Given the description of an element on the screen output the (x, y) to click on. 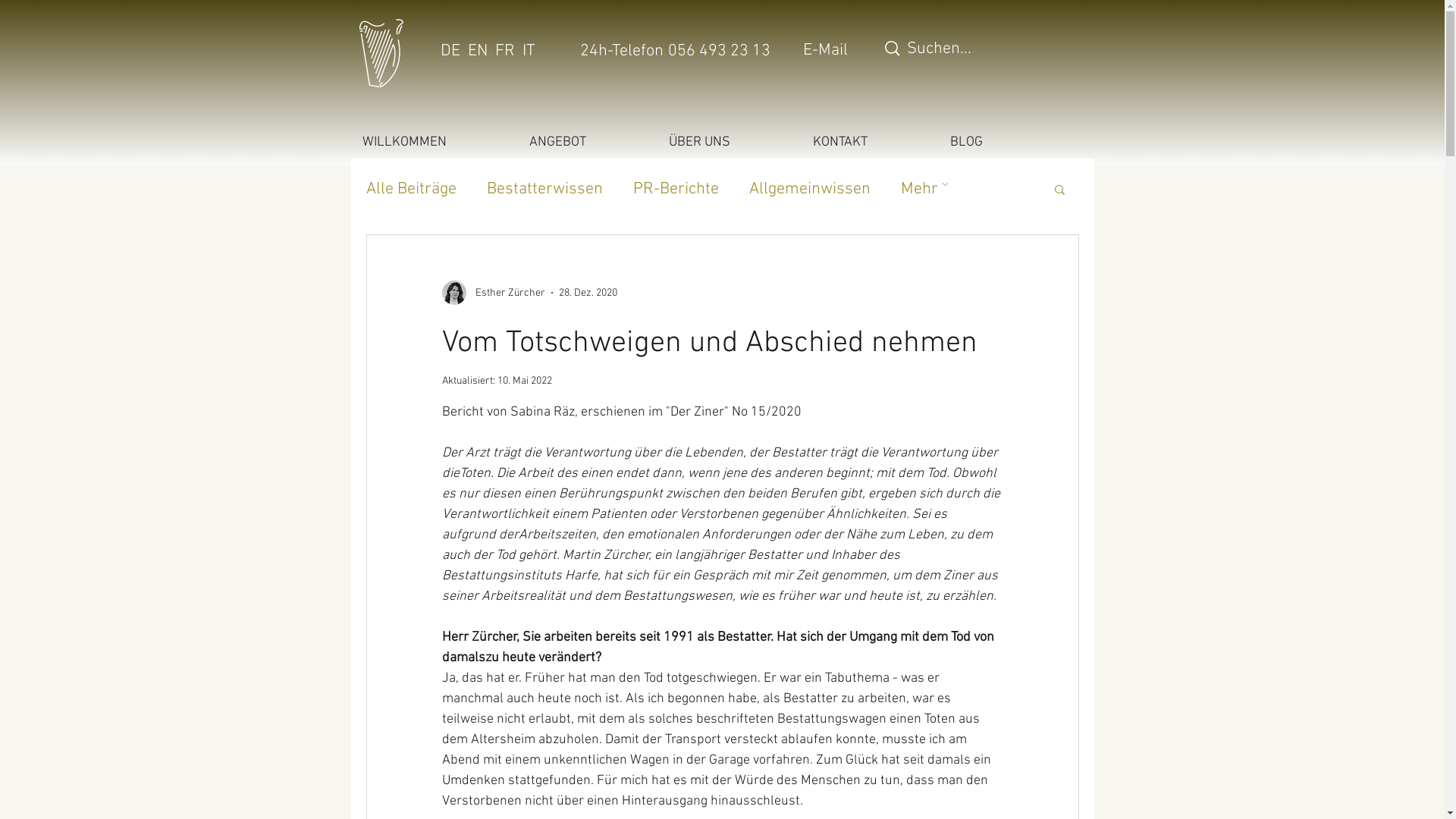
BLOG Element type: text (996, 142)
Bestatterwissen Element type: text (544, 188)
DE Element type: text (449, 50)
IT Element type: text (527, 50)
056 493 23 13 Element type: text (718, 50)
Trauerarbeit Element type: text (944, 188)
PR-Berichte Element type: text (675, 188)
KONTAKT Element type: text (869, 142)
FR Element type: text (504, 50)
E-Mail Element type: text (825, 50)
Allgemeinwissen Element type: text (809, 188)
WILLKOMMEN Element type: text (433, 142)
EN Element type: text (476, 50)
